Given the description of an element on the screen output the (x, y) to click on. 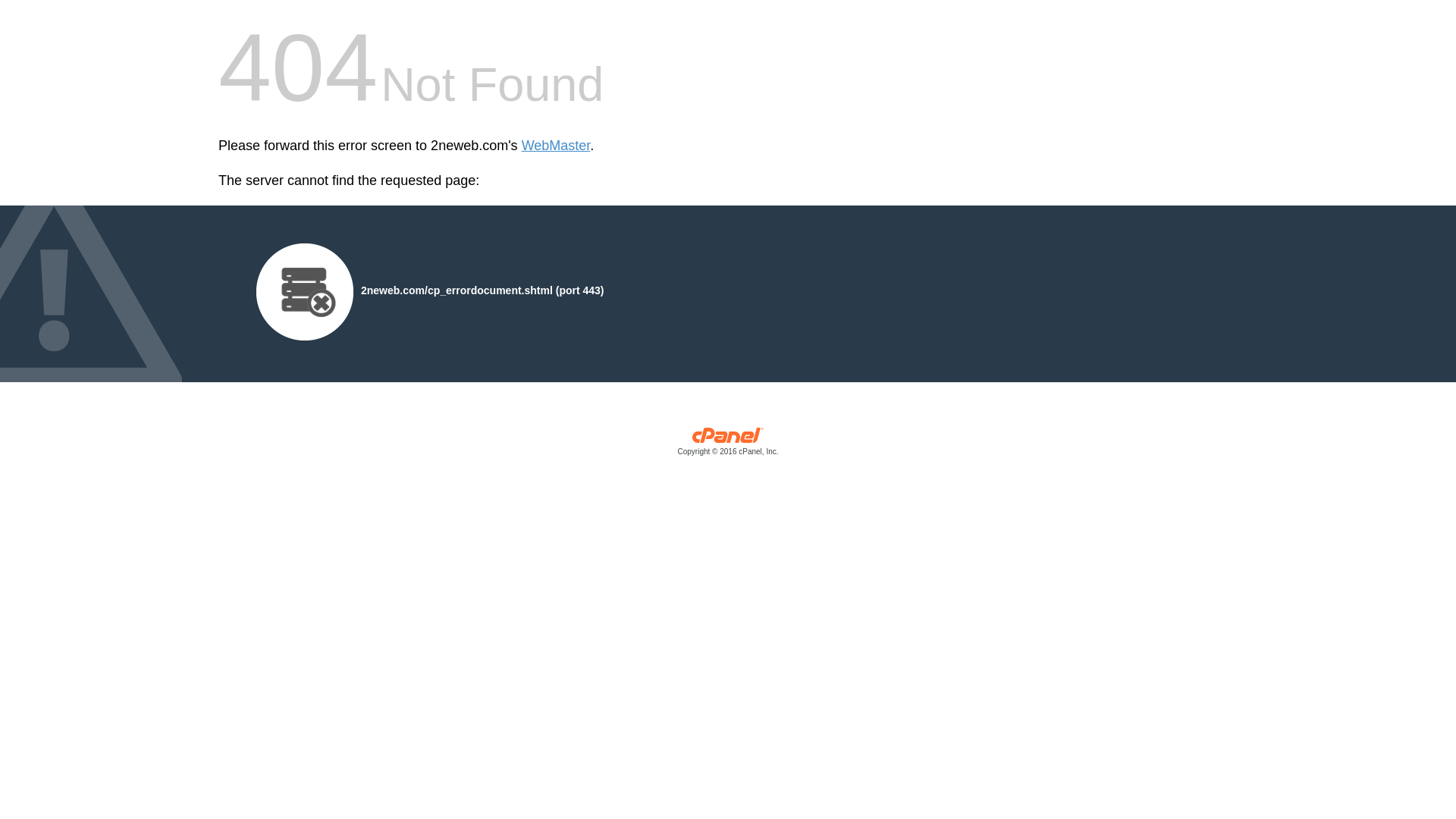
WebMaster Element type: text (555, 145)
